Given the description of an element on the screen output the (x, y) to click on. 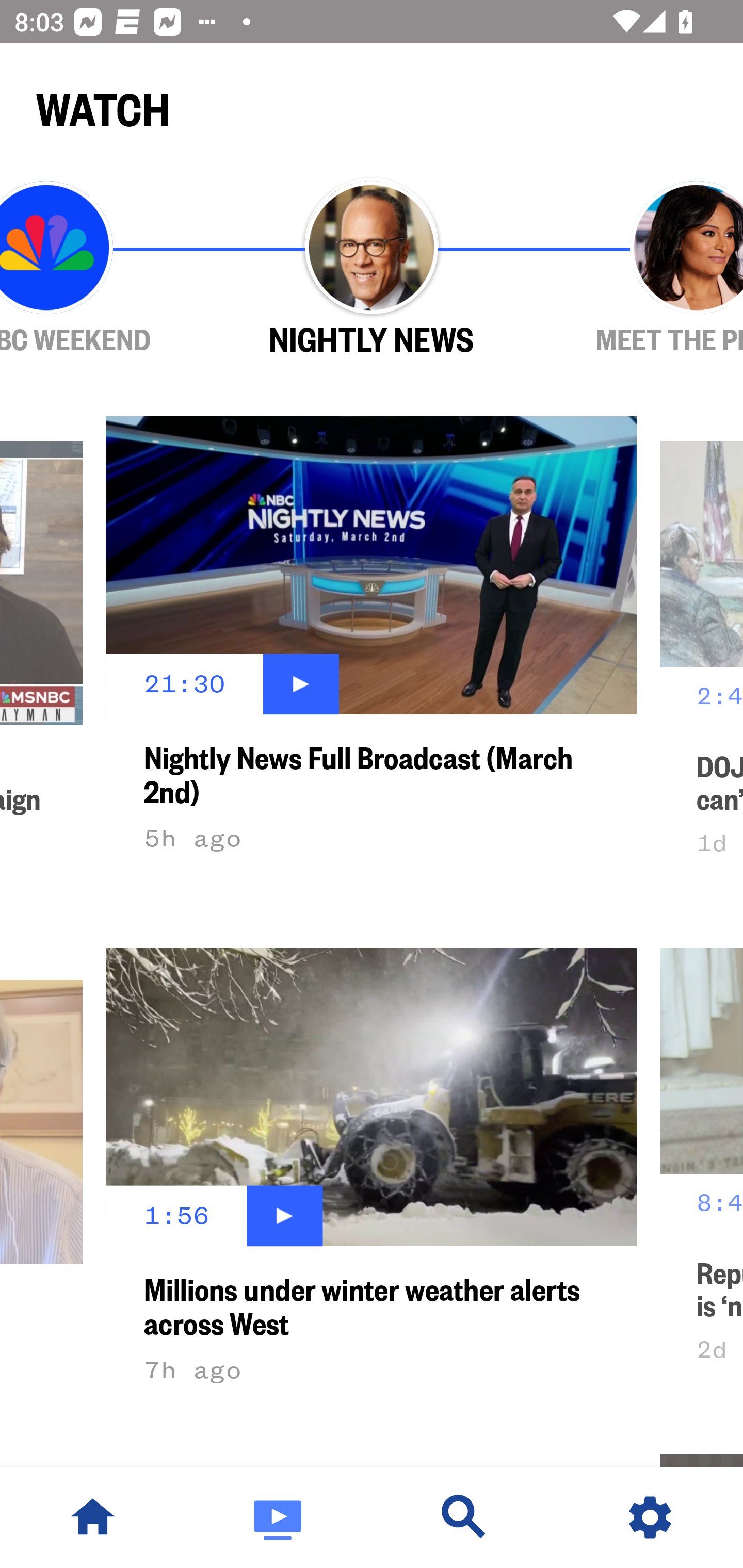
MSNBC WEEKEND (104, 268)
NIGHTLY NEWS (371, 268)
MEET THE PRESS (638, 268)
NBC News Home (92, 1517)
Discover (464, 1517)
Settings (650, 1517)
